Given the description of an element on the screen output the (x, y) to click on. 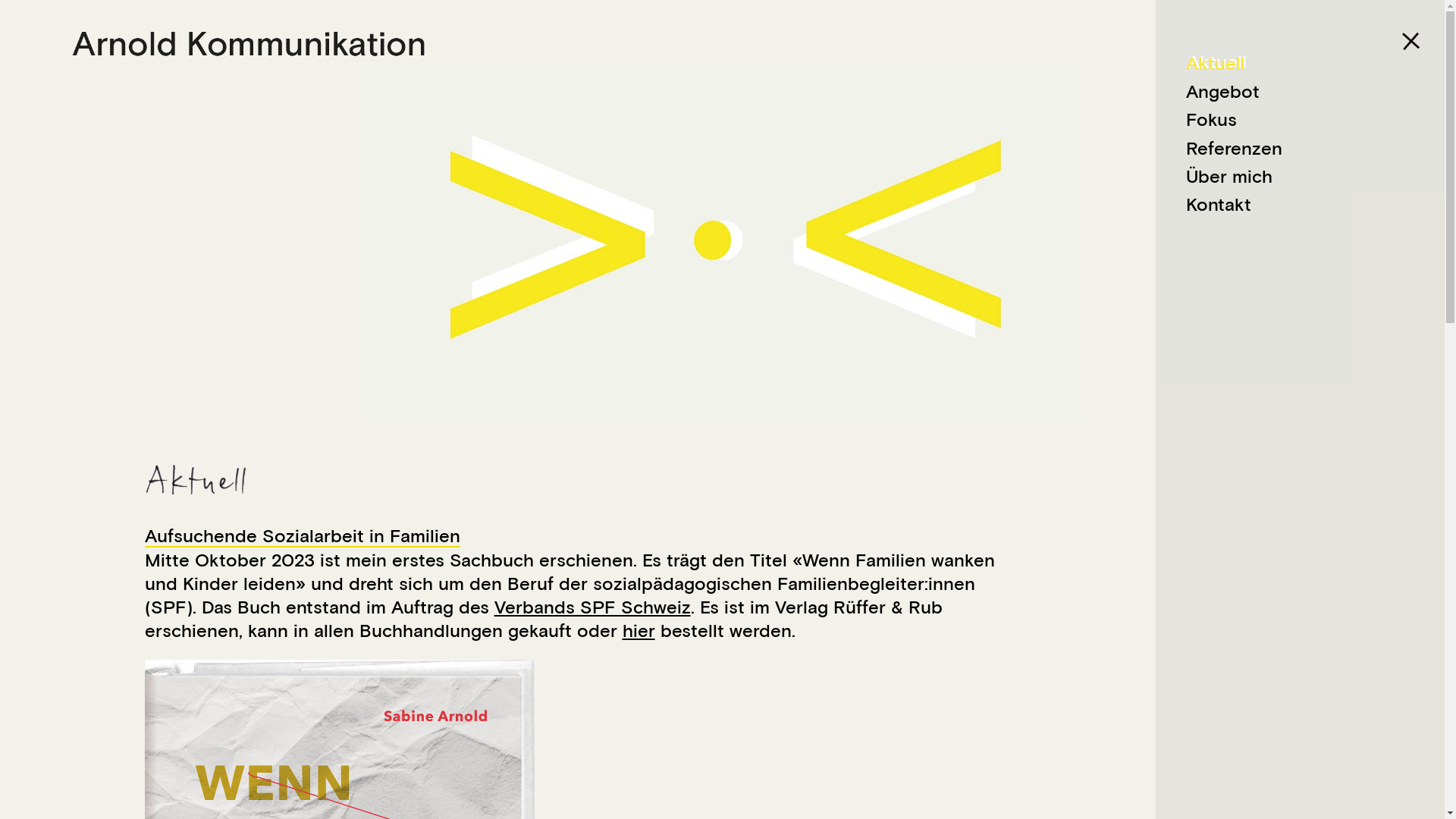
Fokus Element type: text (1211, 118)
Verbands SPF Schweiz Element type: text (592, 606)
Kontakt Element type: text (1218, 203)
Referenzen Element type: text (1234, 147)
hier Element type: text (637, 629)
Angebot Element type: text (1222, 90)
  Element type: text (1154, 235)
